Given the description of an element on the screen output the (x, y) to click on. 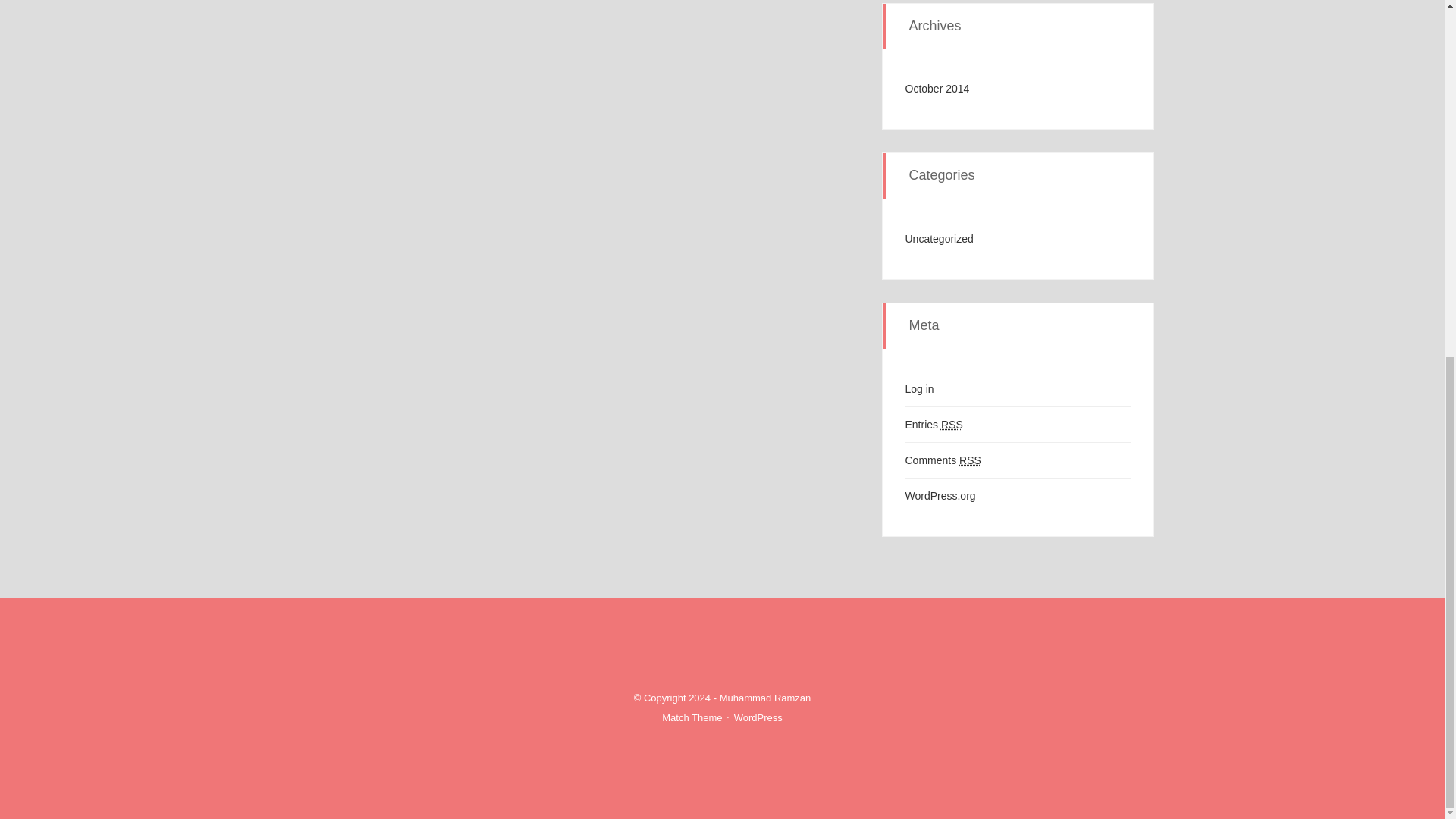
WordPress (758, 717)
Comments RSS (943, 460)
WordPress.org (940, 495)
Uncategorized (939, 238)
Entries RSS (933, 424)
Really Simple Syndication (970, 460)
Muhammad Ramzan (764, 697)
Match Theme (692, 717)
October 2014 (937, 88)
